Given the description of an element on the screen output the (x, y) to click on. 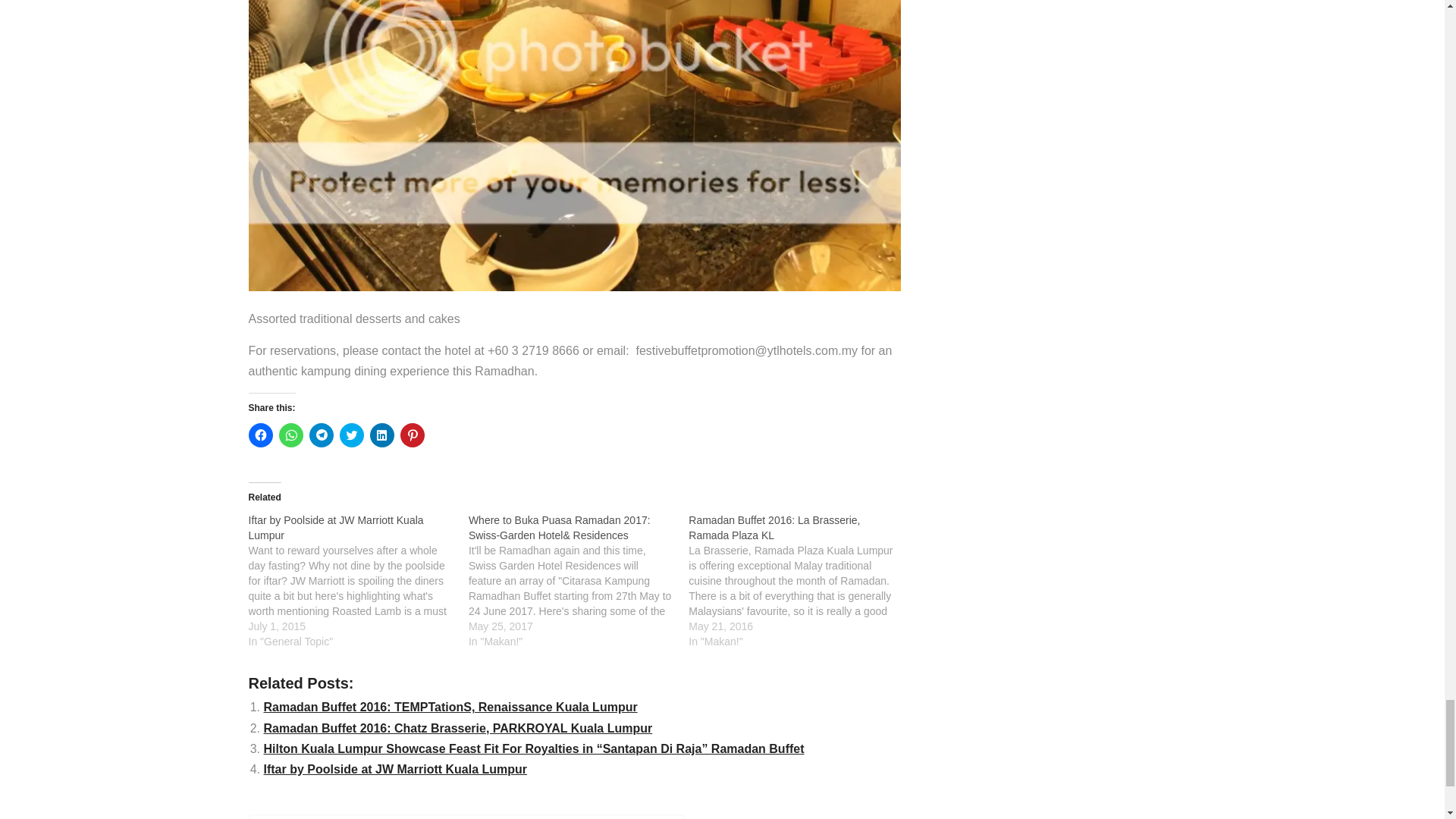
Ramadan Buffet 2016: La Brasserie, Ramada Plaza KL (774, 527)
Click to share on WhatsApp (290, 435)
Click to share on Pinterest (412, 435)
Ramadan Buffet 2016: La Brasserie, Ramada Plaza KL (798, 580)
Click to share on Telegram (320, 435)
Ramadan Buffet 2016: Chatz Brasserie, PARKROYAL Kuala Lumpur (457, 727)
Click to share on Twitter (351, 435)
Iftar by Poolside at JW Marriott Kuala Lumpur (358, 580)
Click to share on Facebook (260, 435)
Iftar by Poolside at JW Marriott Kuala Lumpur (335, 527)
Iftar by Poolside at JW Marriott Kuala Lumpur (335, 527)
Ramadan Buffet 2016: La Brasserie, Ramada Plaza KL (774, 527)
Ramadan Buffet 2016: TEMPTationS, Renaissance Kuala Lumpur (450, 707)
Click to share on LinkedIn (381, 435)
